Given the description of an element on the screen output the (x, y) to click on. 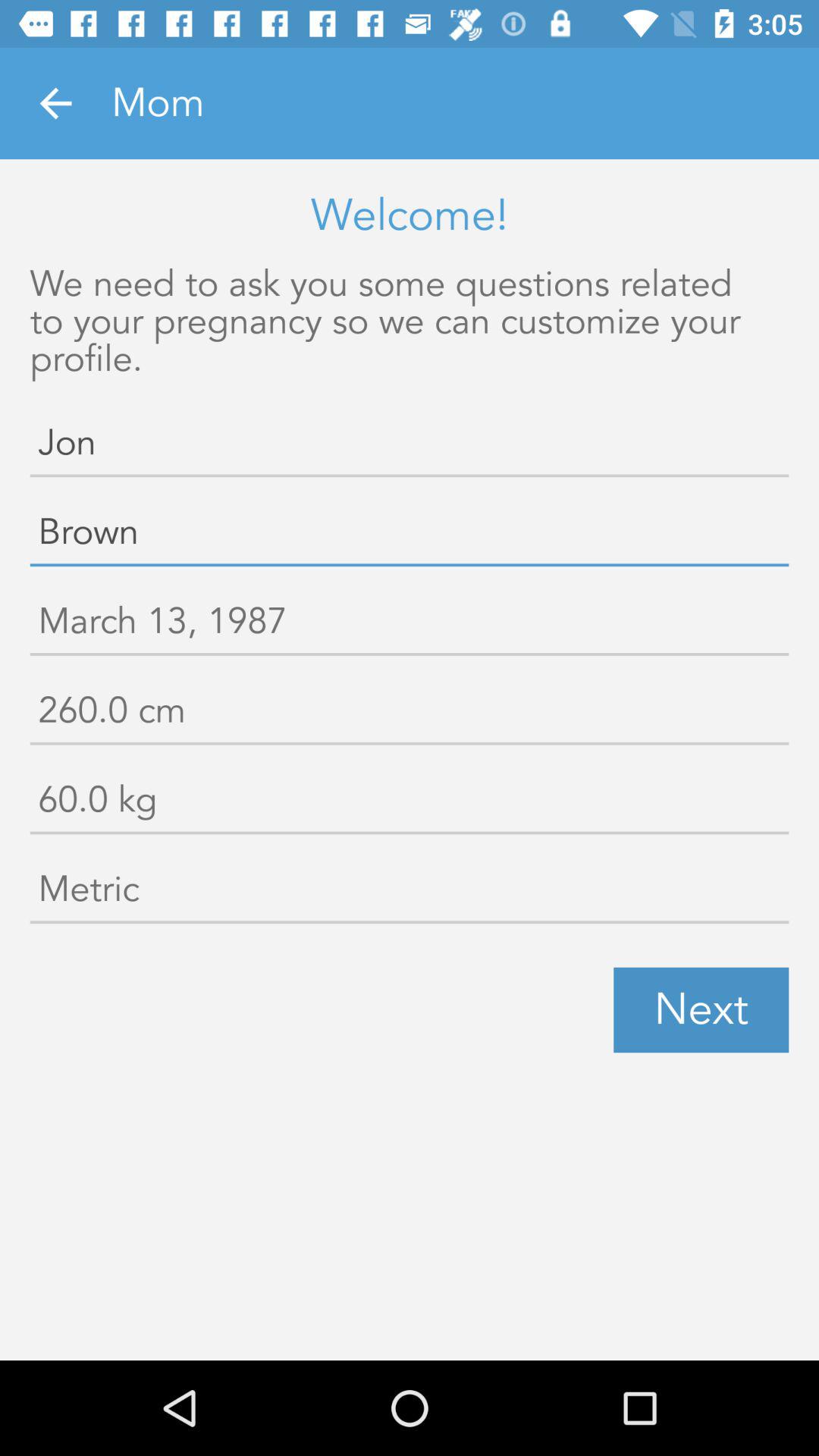
swipe until the mom item (465, 103)
